Given the description of an element on the screen output the (x, y) to click on. 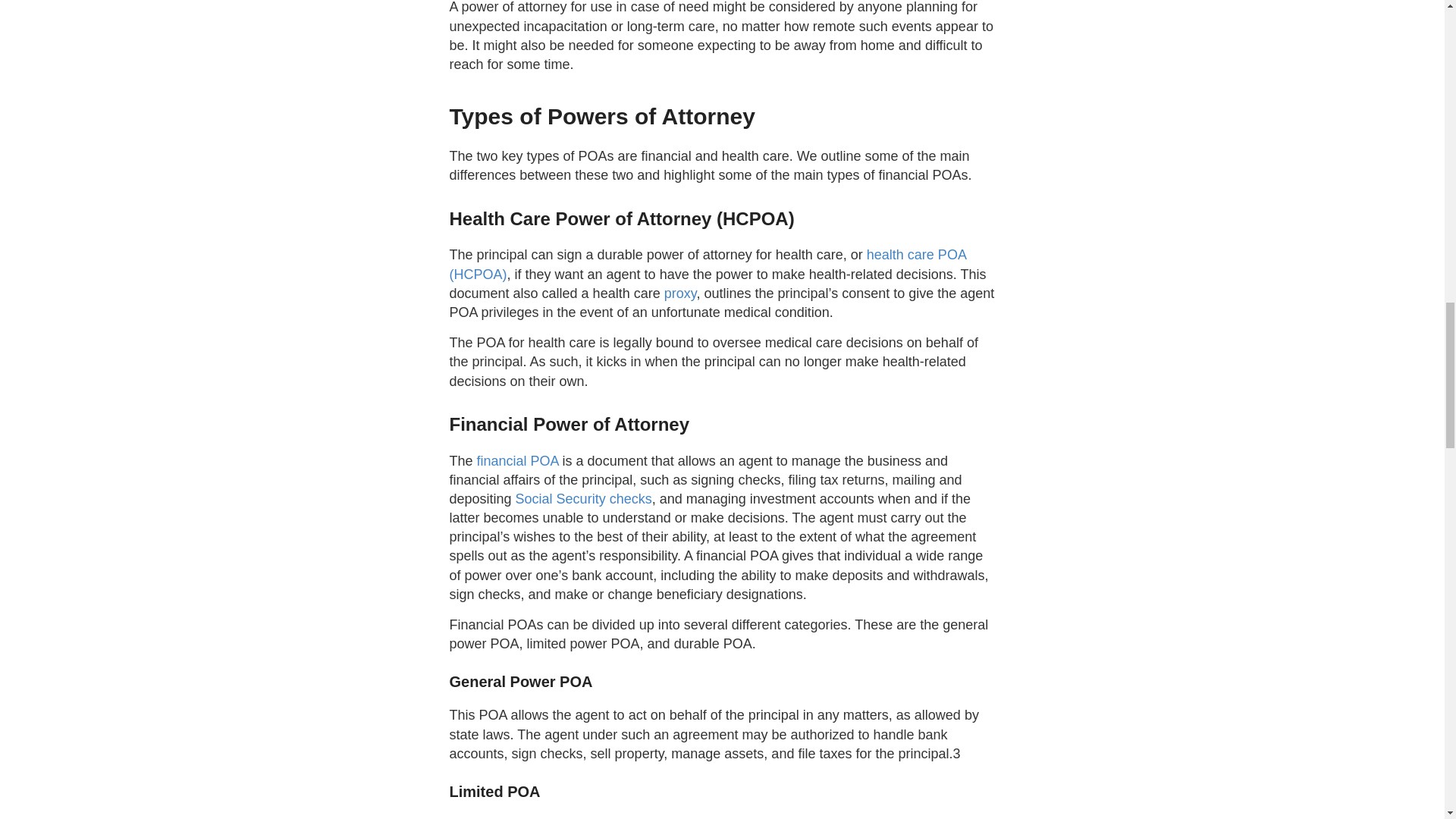
financial POA (518, 460)
Social Security checks (583, 498)
proxy (680, 293)
